Given the description of an element on the screen output the (x, y) to click on. 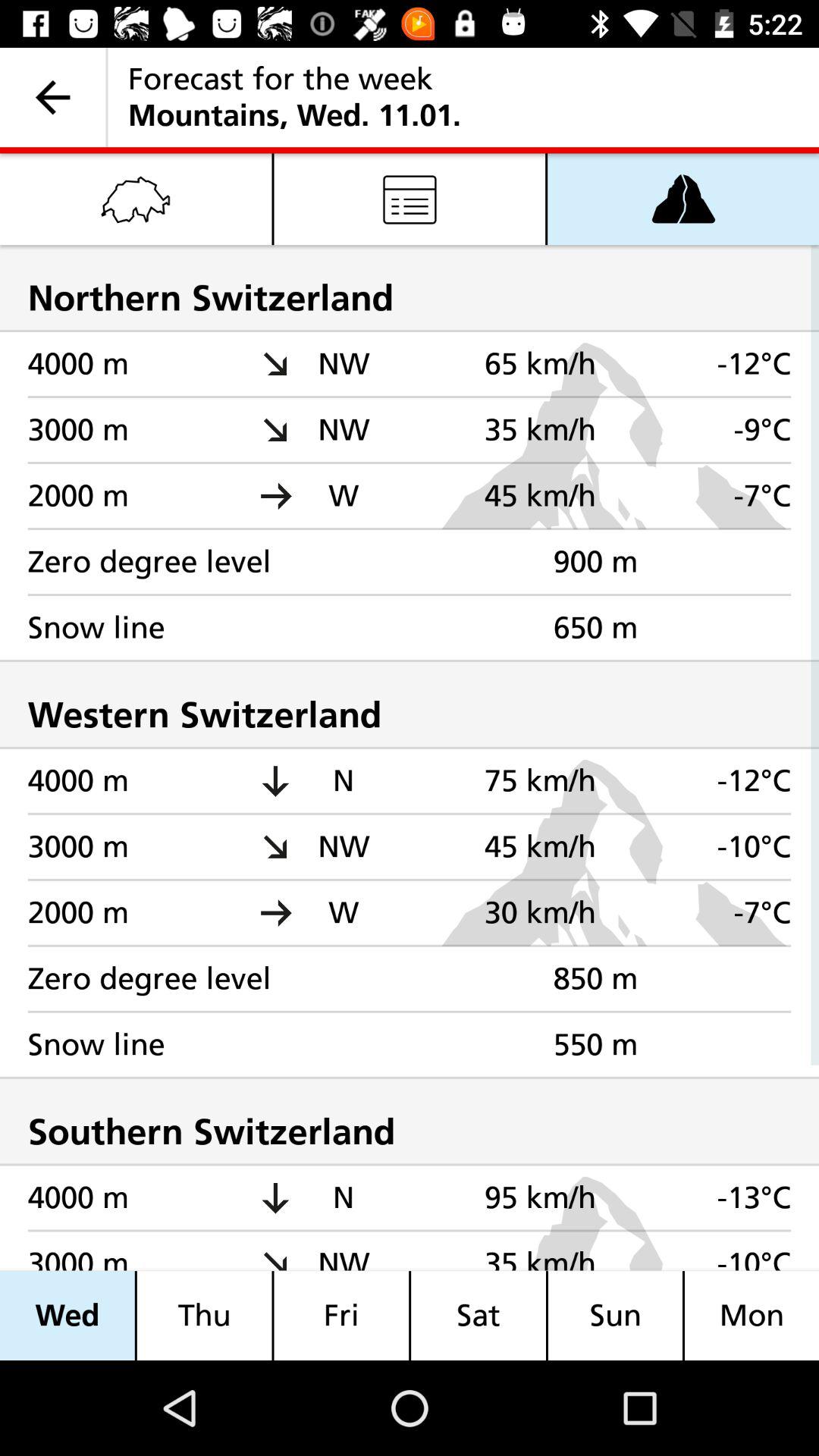
choose the fri (341, 1315)
